Given the description of an element on the screen output the (x, y) to click on. 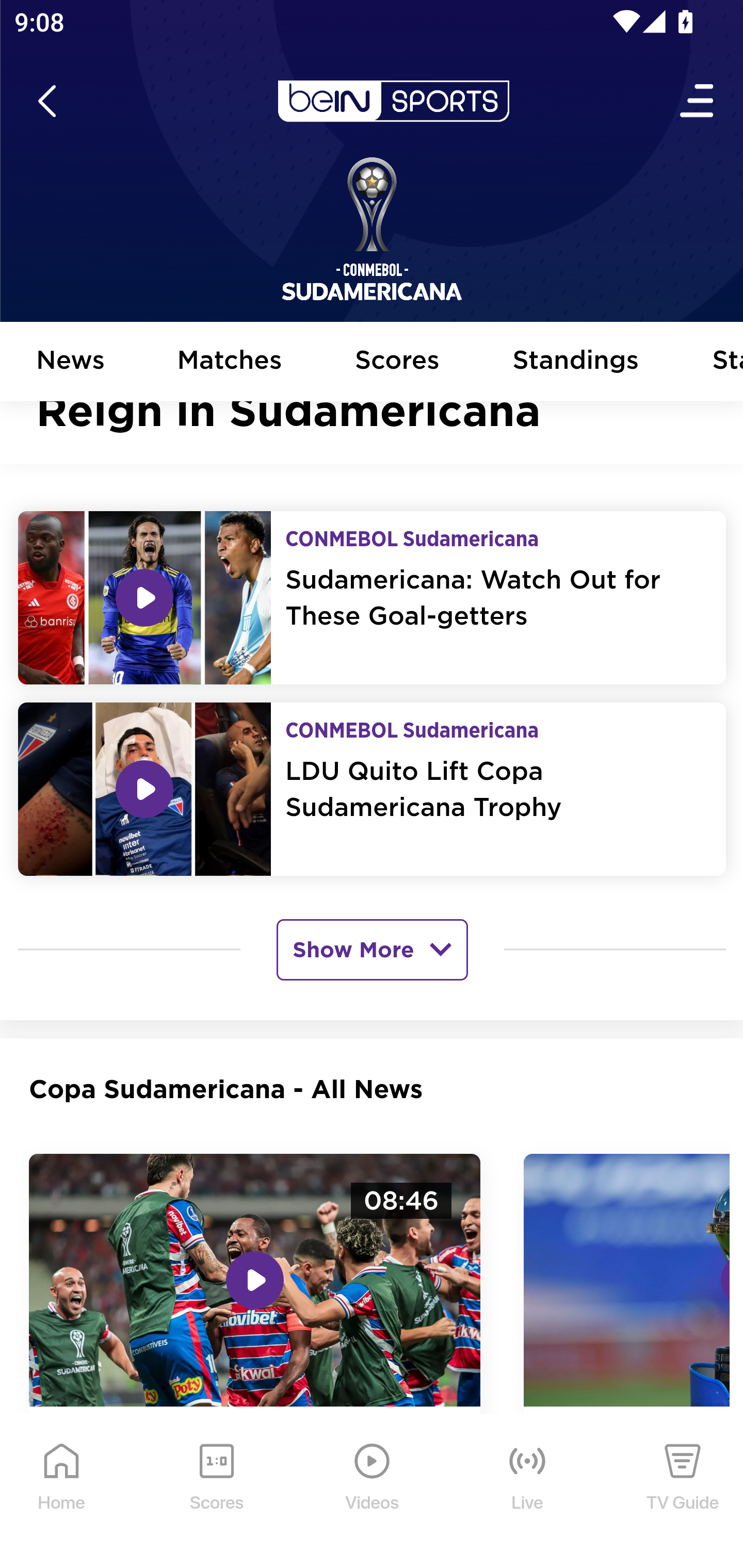
en-us?platform=mobile_android bein logo white (392, 101)
icon back (46, 101)
Open Menu Icon (697, 101)
News (70, 361)
Matches (229, 361)
Scores (397, 361)
Standings (575, 361)
Show More (371, 949)
Home Home Icon Home (61, 1491)
Scores Scores Icon Scores (216, 1491)
Videos Videos Icon Videos (372, 1491)
TV Guide TV Guide Icon TV Guide (682, 1491)
